Given the description of an element on the screen output the (x, y) to click on. 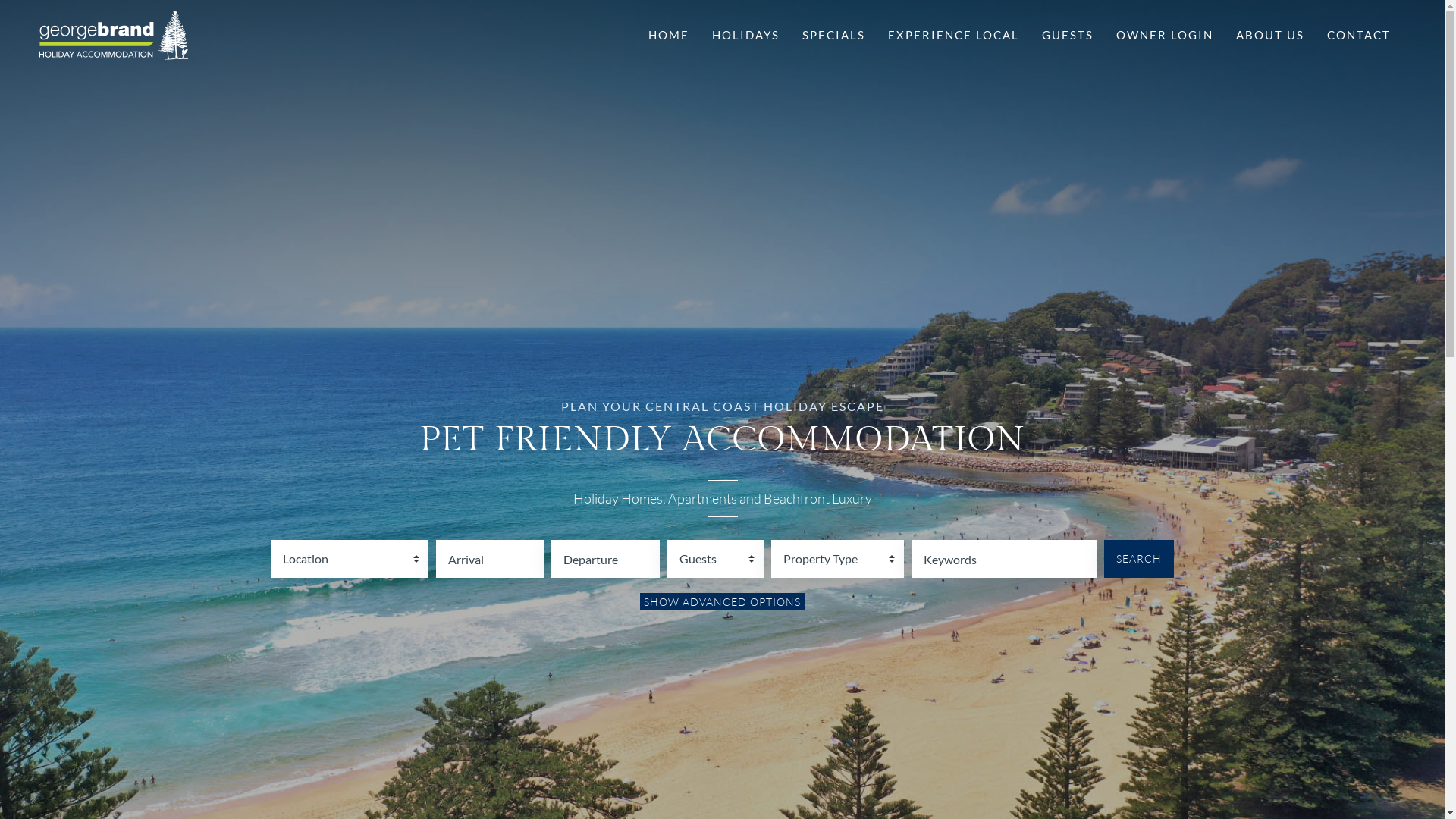
HOLIDAYS Element type: text (745, 34)
GUESTS Element type: text (1067, 34)
SPECIALS Element type: text (833, 34)
EXPERIENCE LOCAL Element type: text (953, 34)
ABOUT US Element type: text (1269, 34)
CONTACT Element type: text (1358, 34)
HOME Element type: text (668, 34)
OWNER LOGIN Element type: text (1164, 34)
Search Element type: text (1138, 558)
